Given the description of an element on the screen output the (x, y) to click on. 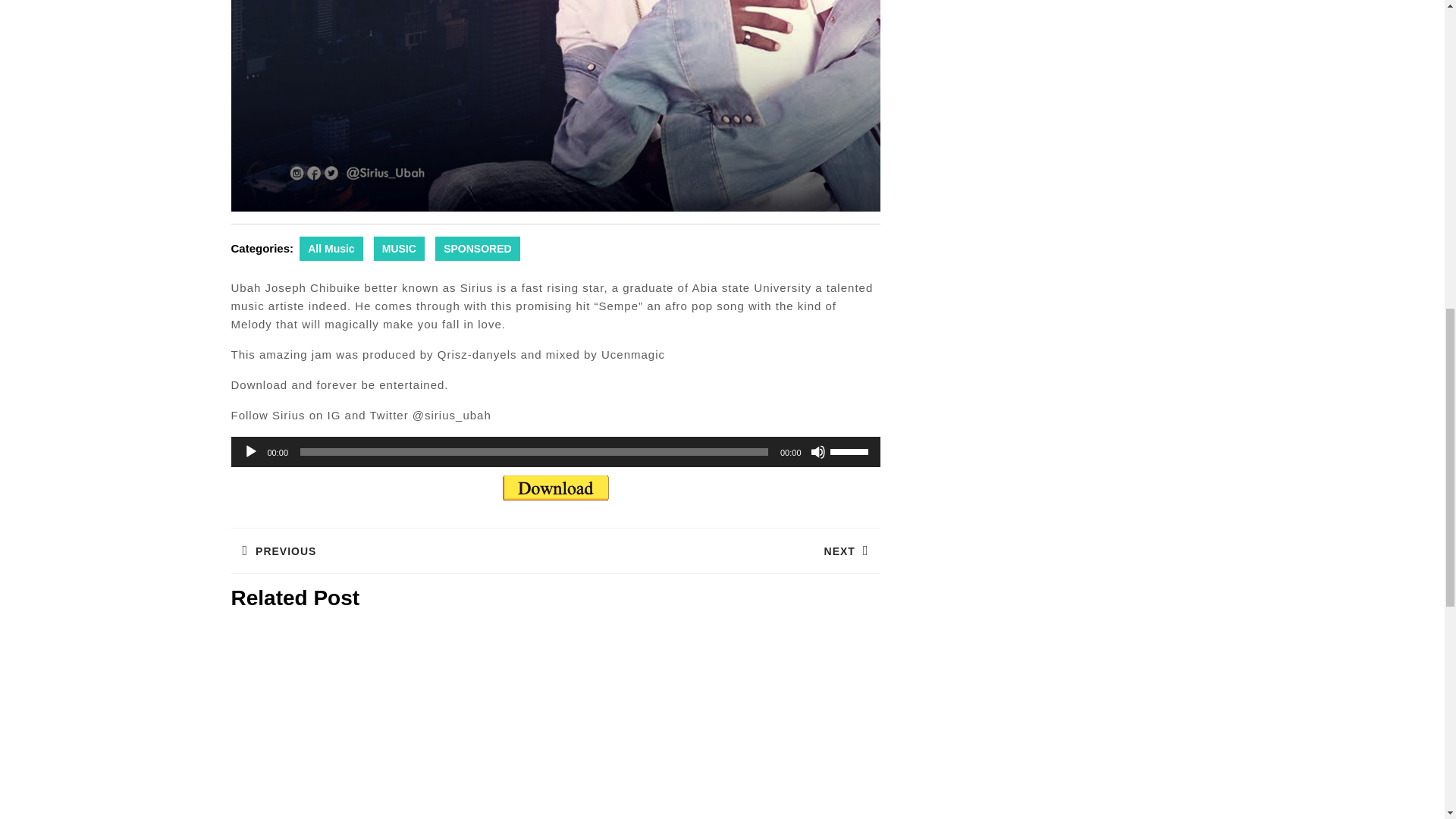
SPONSORED (477, 248)
Play (250, 451)
All Music (716, 550)
Mute (330, 248)
MUSIC (817, 451)
